Given the description of an element on the screen output the (x, y) to click on. 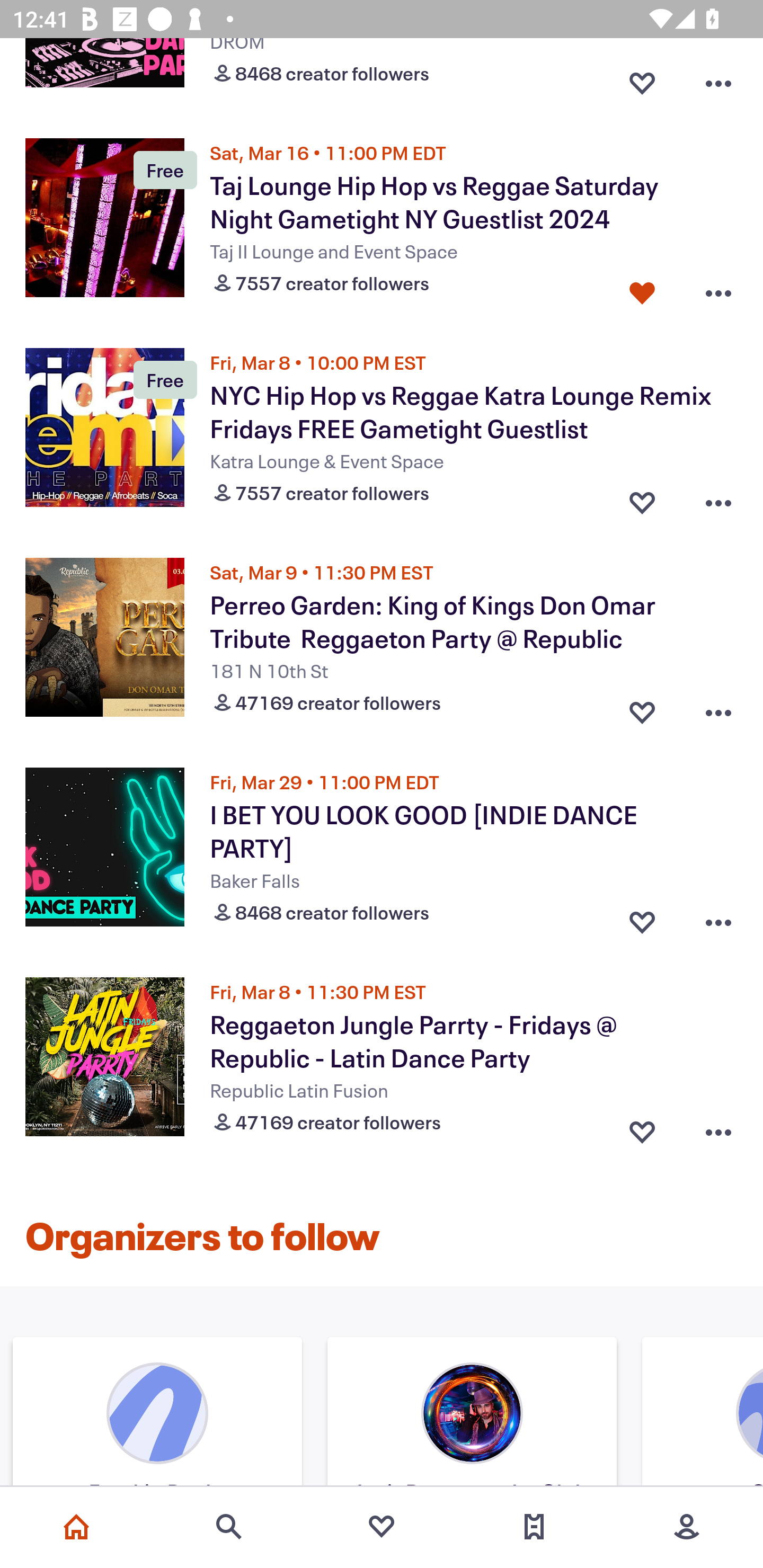
Favorite button (642, 78)
Overflow menu button (718, 78)
Favorite button (642, 289)
Overflow menu button (718, 289)
Favorite button (642, 499)
Overflow menu button (718, 499)
Favorite button (642, 707)
Overflow menu button (718, 707)
Favorite button (642, 917)
Overflow menu button (718, 917)
Favorite button (642, 1127)
Overflow menu button (718, 1127)
Organizer's image Frankie Banks (157, 1414)
Organizer's image LatinParty.com by Club Cache (471, 1414)
Home (76, 1526)
Search events (228, 1526)
Favorites (381, 1526)
Tickets (533, 1526)
More (686, 1526)
